Given the description of an element on the screen output the (x, y) to click on. 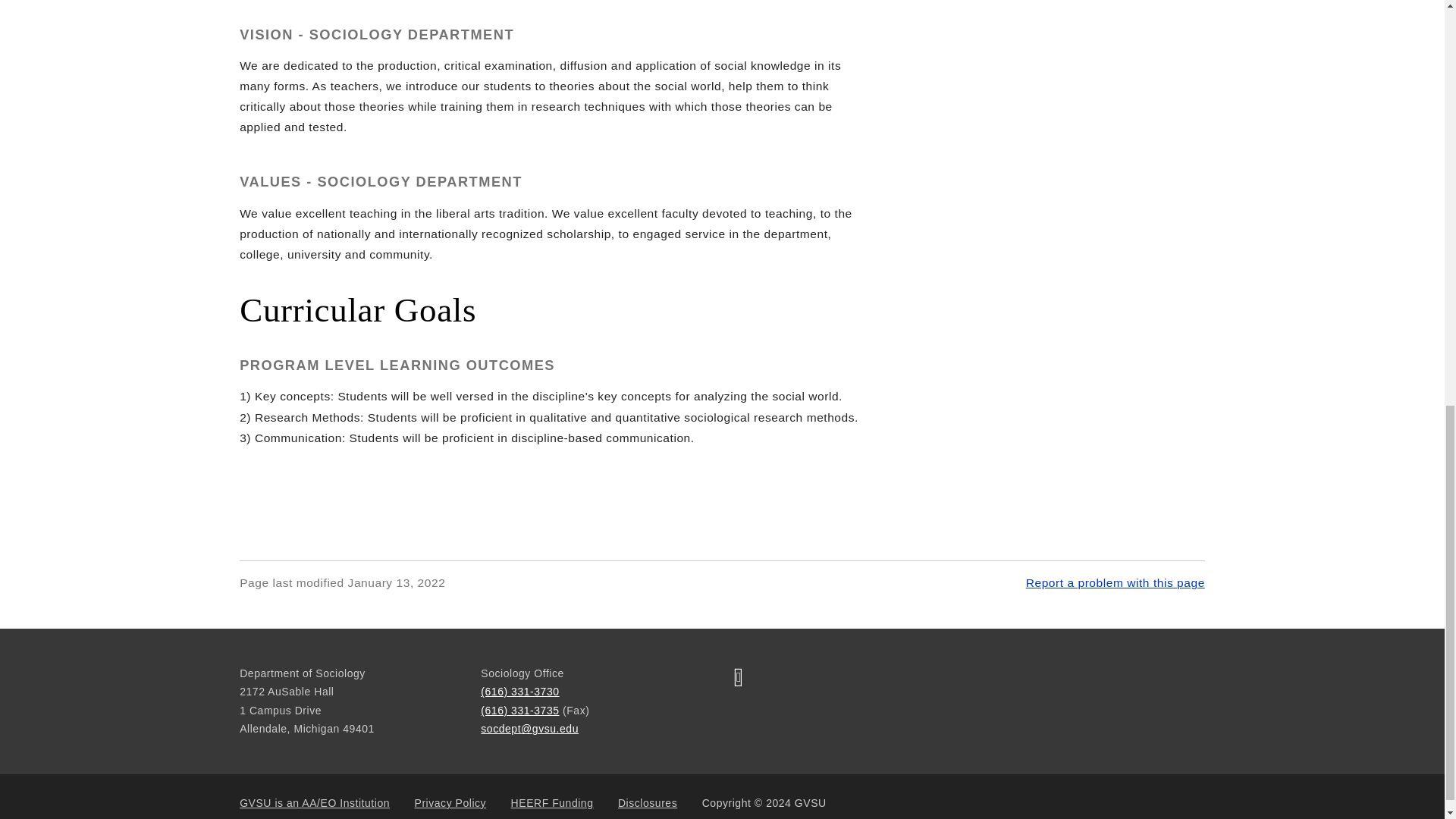
HEERF Funding (552, 803)
Disclosures (647, 803)
Privacy Policy (450, 803)
Report a problem with this page (1115, 582)
